Given the description of an element on the screen output the (x, y) to click on. 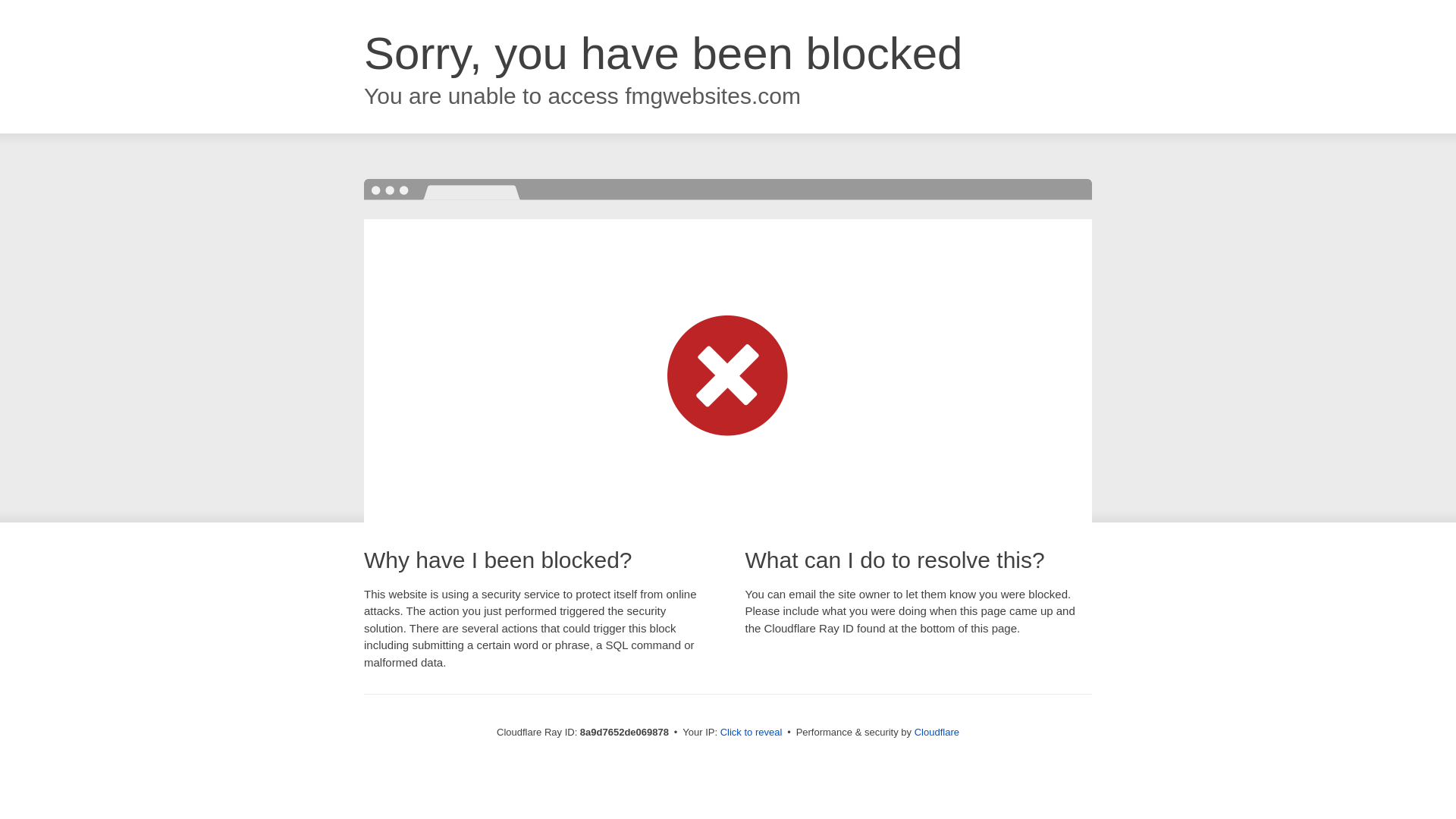
Cloudflare (936, 731)
Click to reveal (751, 732)
